Given the description of an element on the screen output the (x, y) to click on. 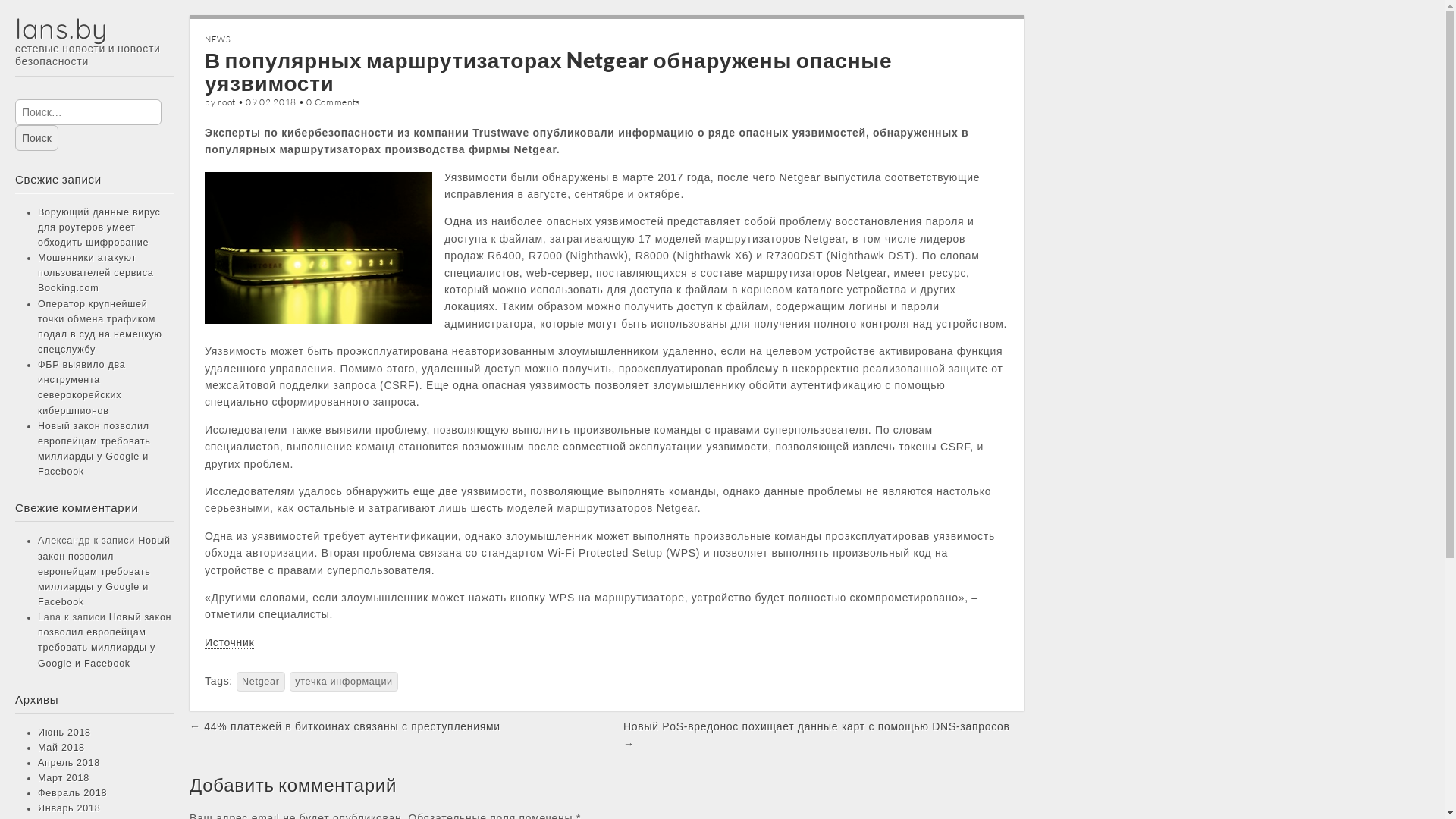
Netgear Element type: text (260, 681)
NEWS Element type: text (217, 39)
lans.by Element type: text (61, 28)
root Element type: text (226, 102)
09.02.2018 Element type: text (270, 102)
0 Comments Element type: text (333, 102)
Skip to content Element type: text (14, 83)
